Given the description of an element on the screen output the (x, y) to click on. 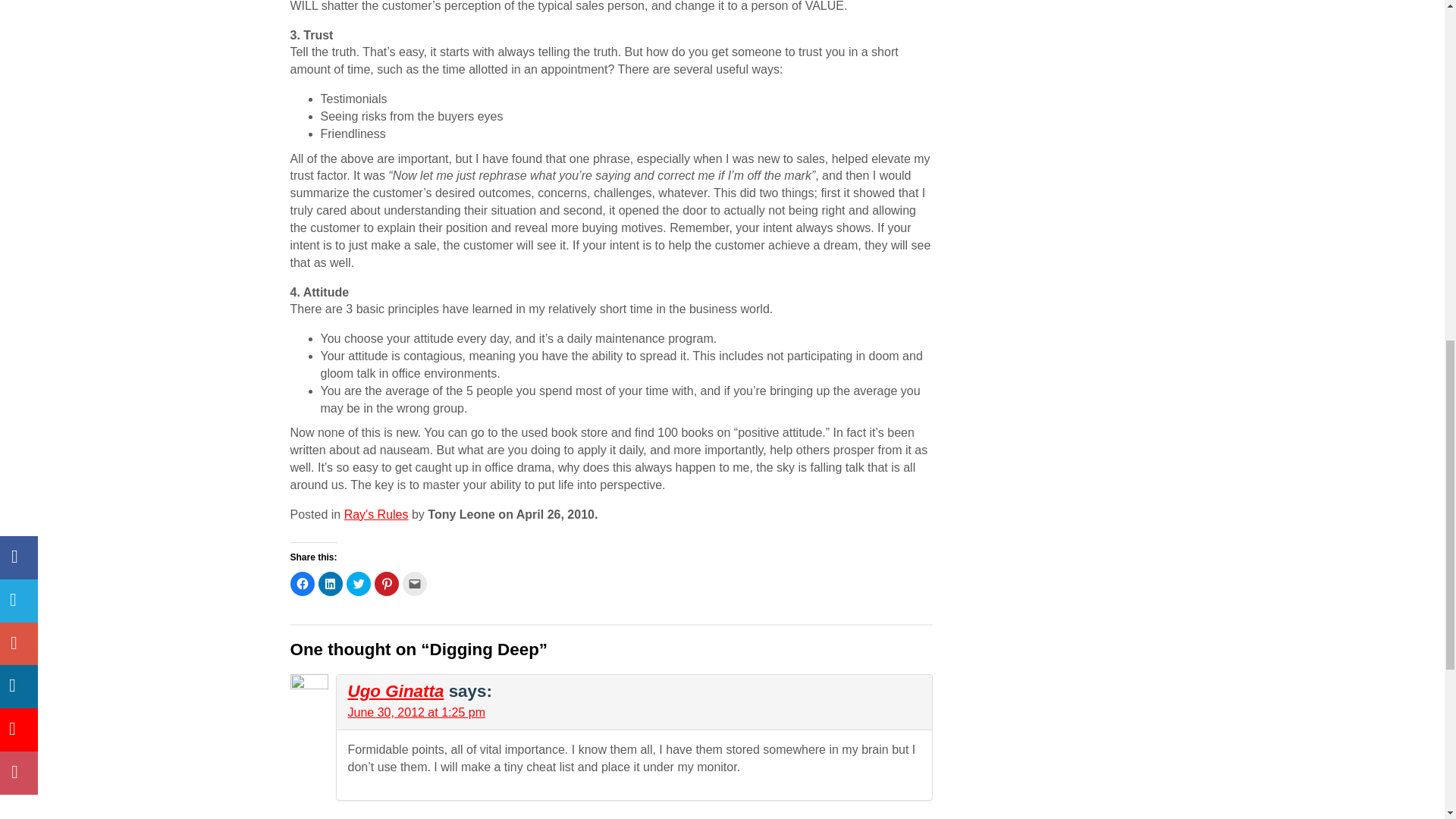
Click to share on Twitter (357, 583)
June 30, 2012 at 1:25 pm (415, 712)
Click to email a link to a friend (413, 583)
Click to share on Facebook (301, 583)
Ugo Ginatta (395, 691)
Click to share on Pinterest (386, 583)
Click to share on LinkedIn (330, 583)
Ray's Rules (376, 513)
